Given the description of an element on the screen output the (x, y) to click on. 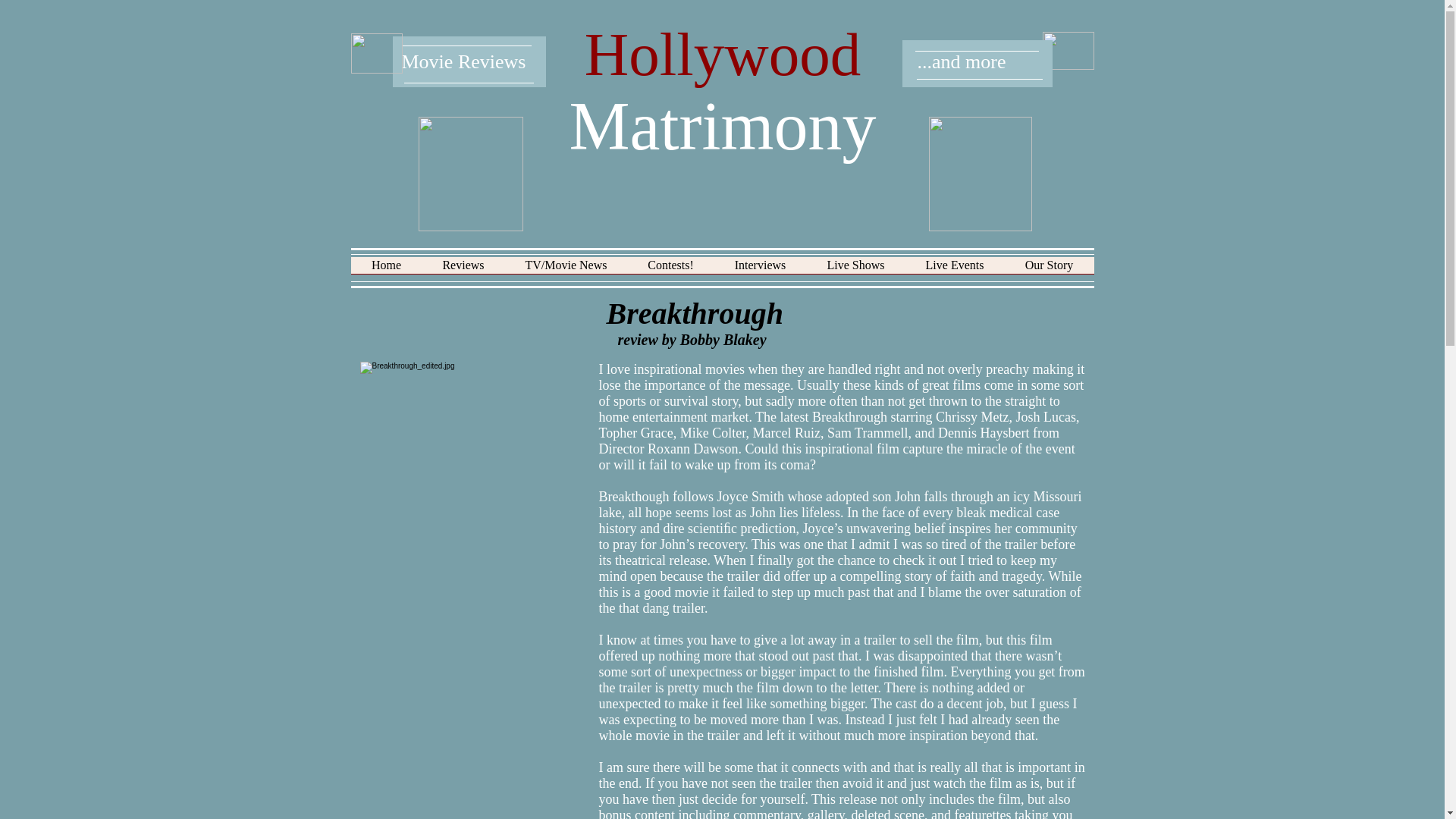
Interviews (760, 270)
Home (386, 270)
Contests! (670, 270)
Live Events (954, 270)
Hollywood (723, 54)
Our Story (1048, 270)
Matrimony (722, 125)
Live Shows (855, 270)
